Given the description of an element on the screen output the (x, y) to click on. 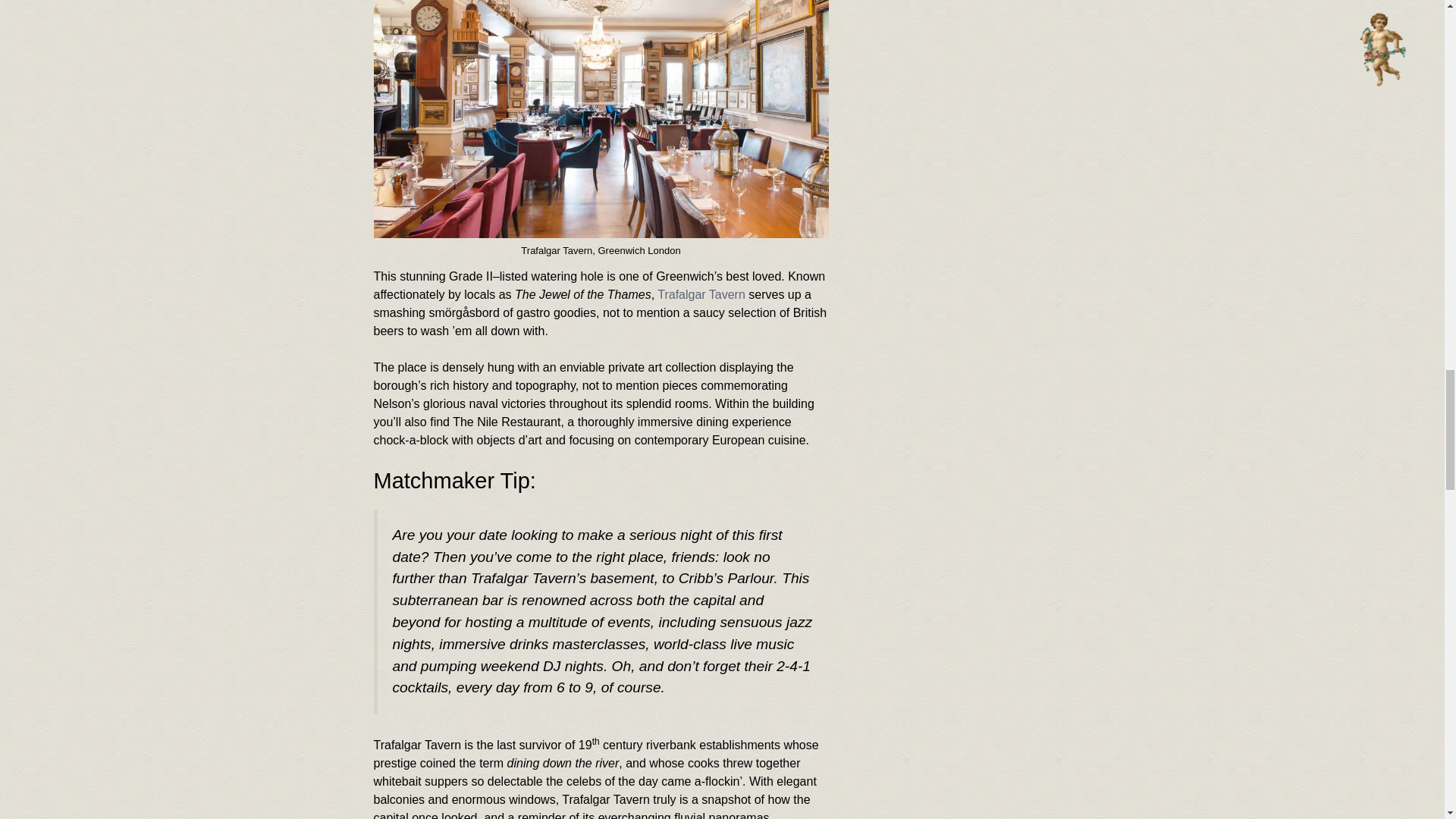
Trafalgar Tavern (701, 294)
